Given the description of an element on the screen output the (x, y) to click on. 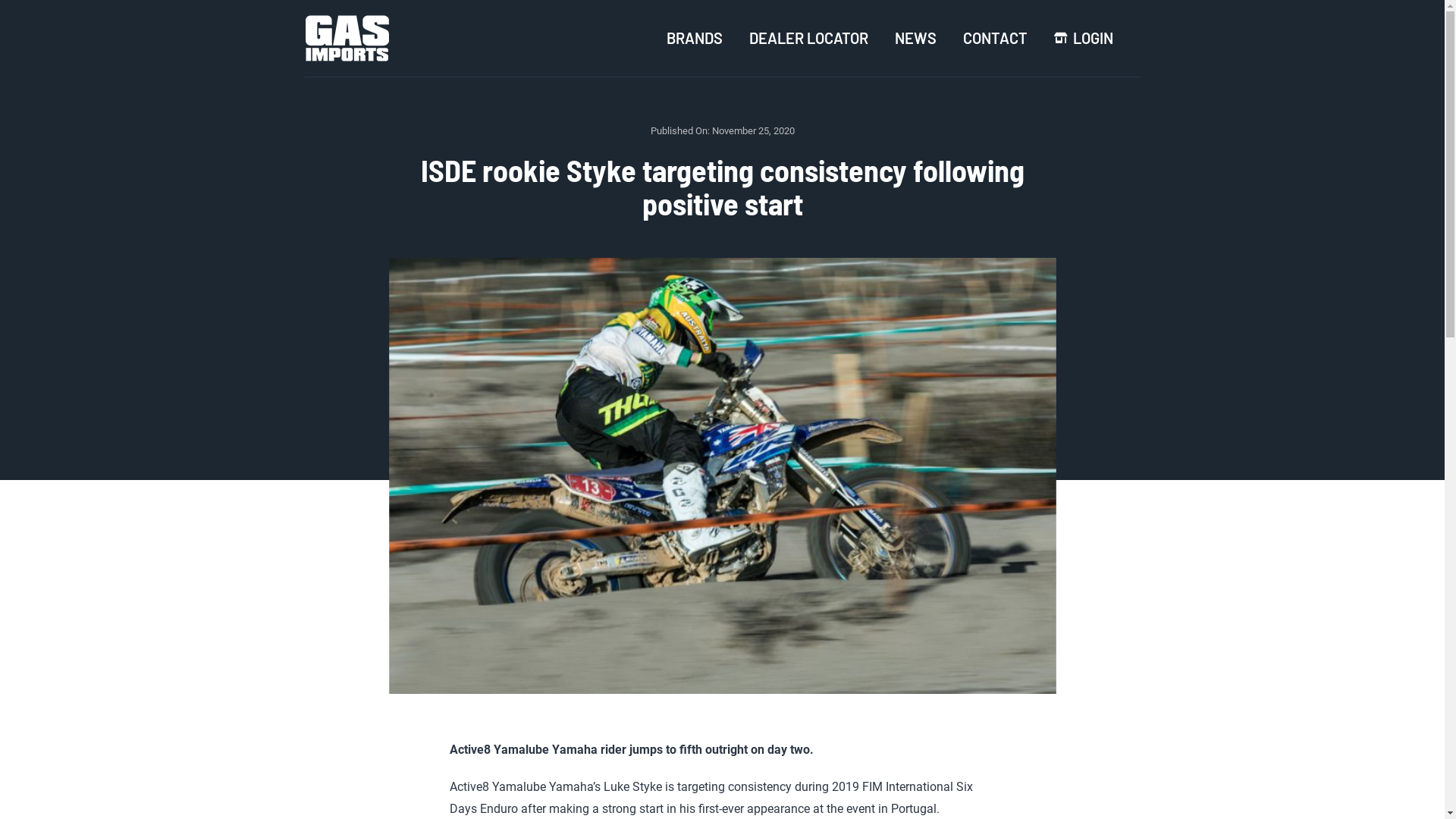
CONTACT Element type: text (995, 37)
NEWS Element type: text (915, 37)
DEALER LOCATOR Element type: text (808, 37)
LOGIN Element type: text (1083, 37)
BRANDS Element type: text (693, 37)
